Given the description of an element on the screen output the (x, y) to click on. 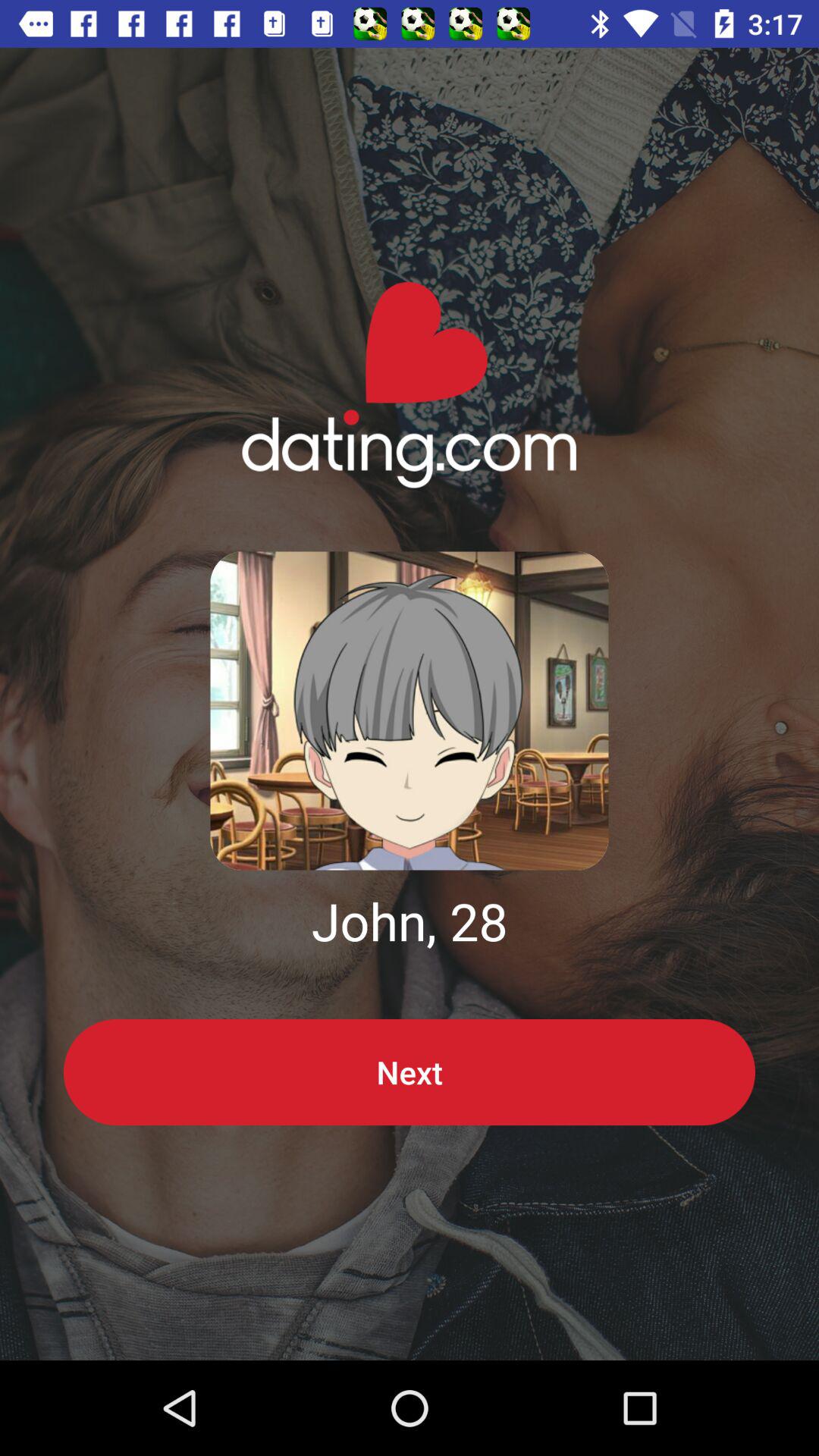
scroll to the next item (409, 1072)
